Given the description of an element on the screen output the (x, y) to click on. 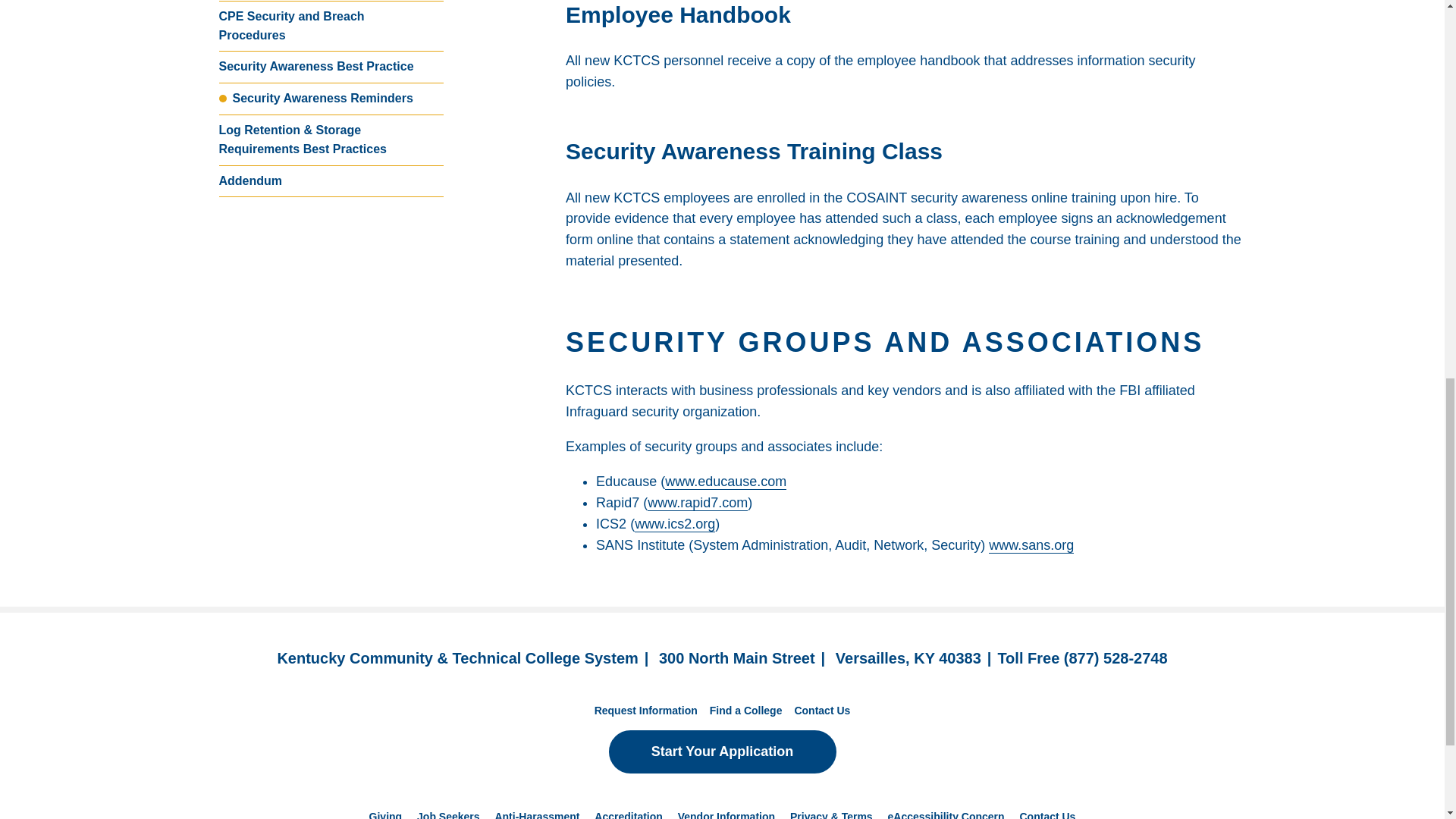
Start Your Application (1146, 29)
FIND A COLLEGE (604, 29)
CONTACT US (868, 29)
REQUEST INFORMATION (304, 29)
